Given the description of an element on the screen output the (x, y) to click on. 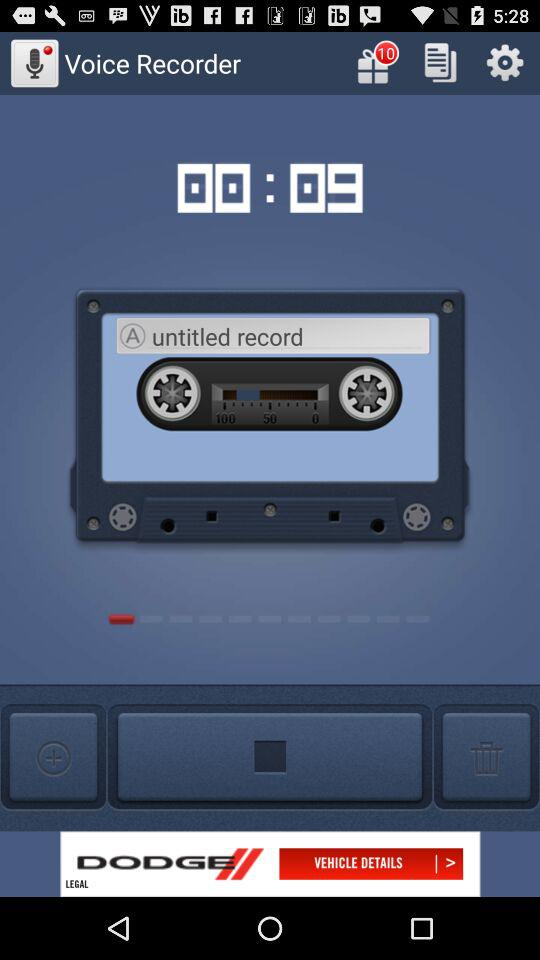
details about advertisement (270, 864)
